Given the description of an element on the screen output the (x, y) to click on. 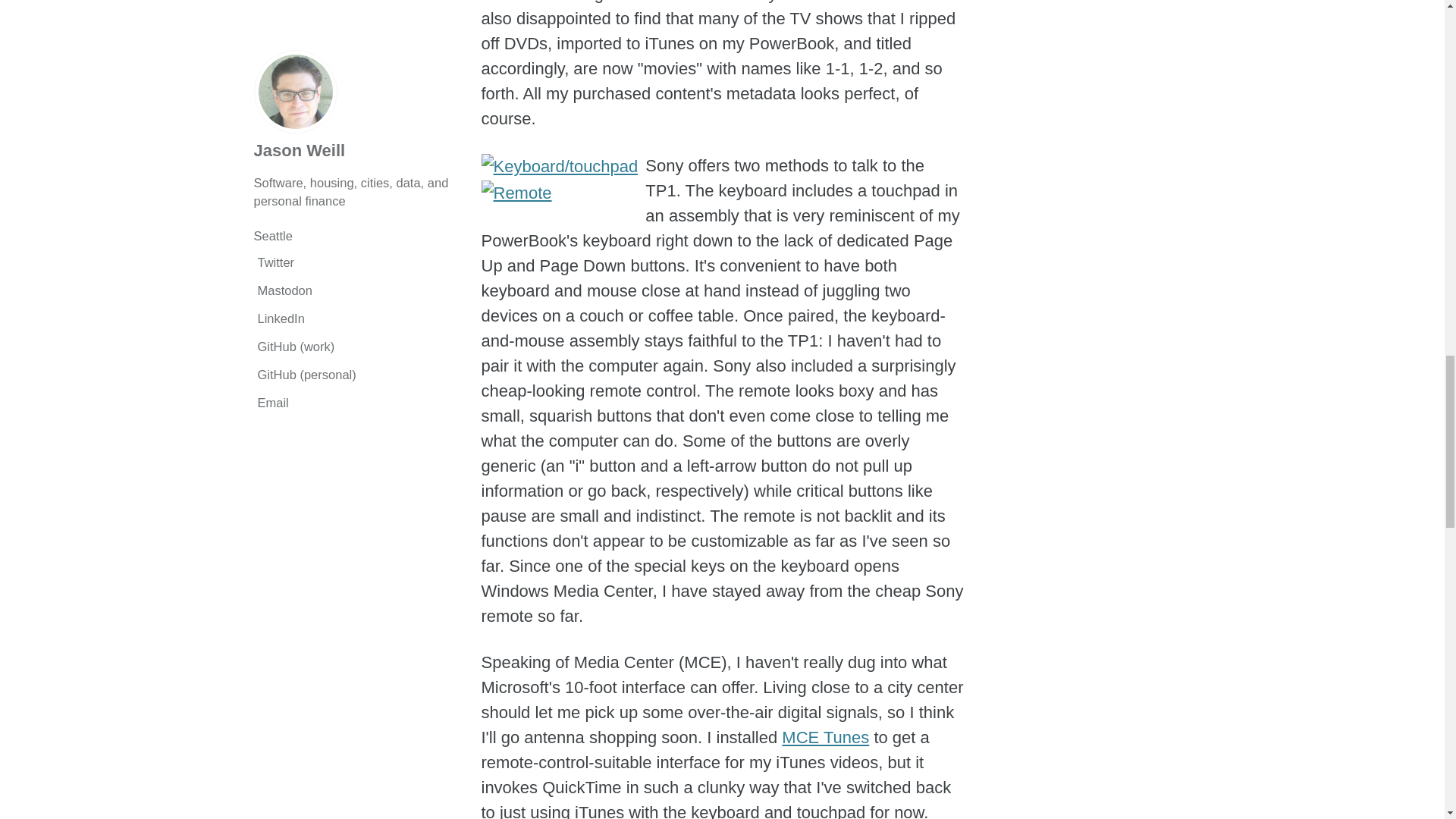
Photo Sharing (558, 165)
Photo Sharing (515, 190)
MCE Tunes (825, 737)
